Given the description of an element on the screen output the (x, y) to click on. 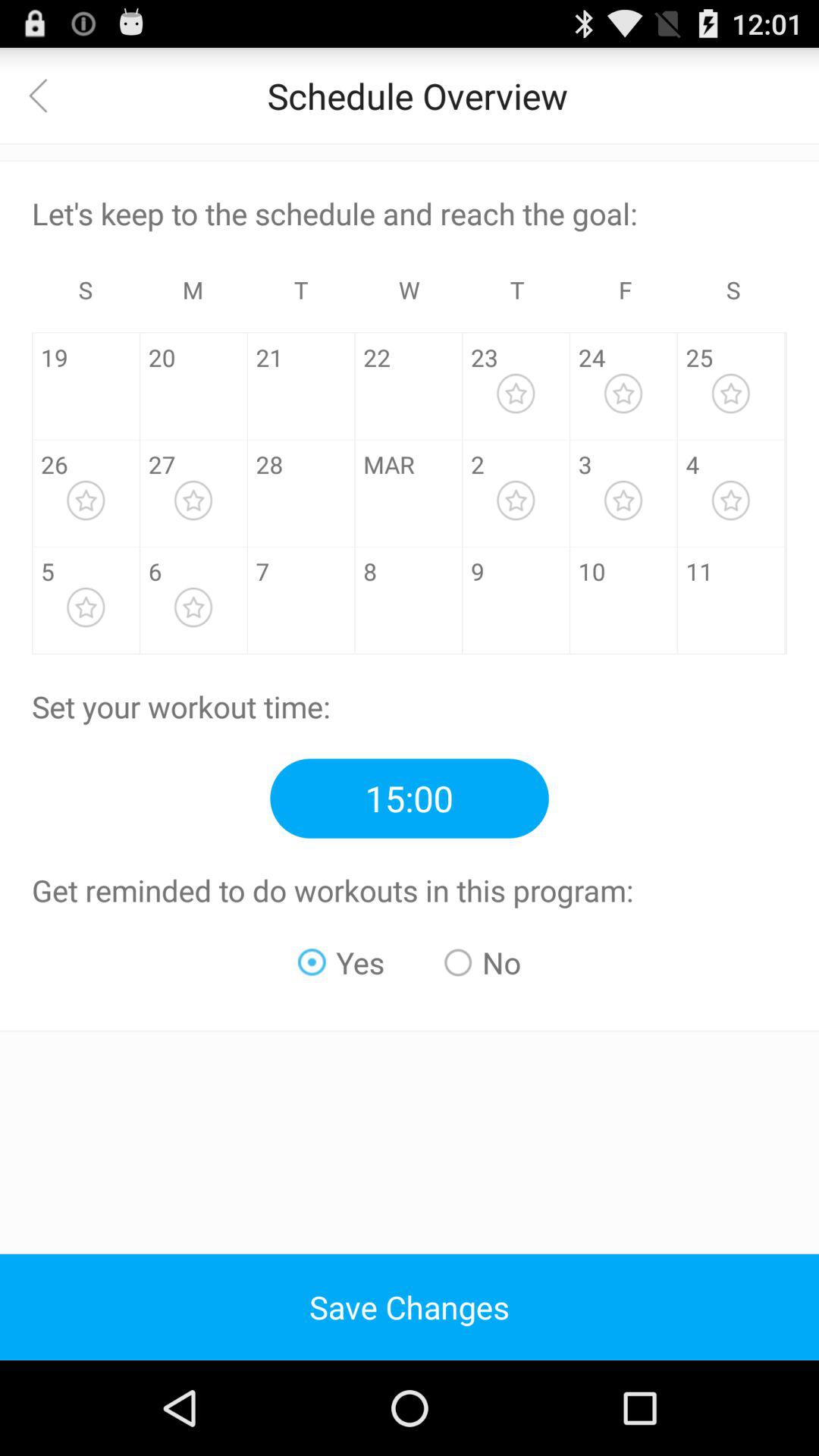
turn on the radio button next to the no radio button (341, 962)
